Given the description of an element on the screen output the (x, y) to click on. 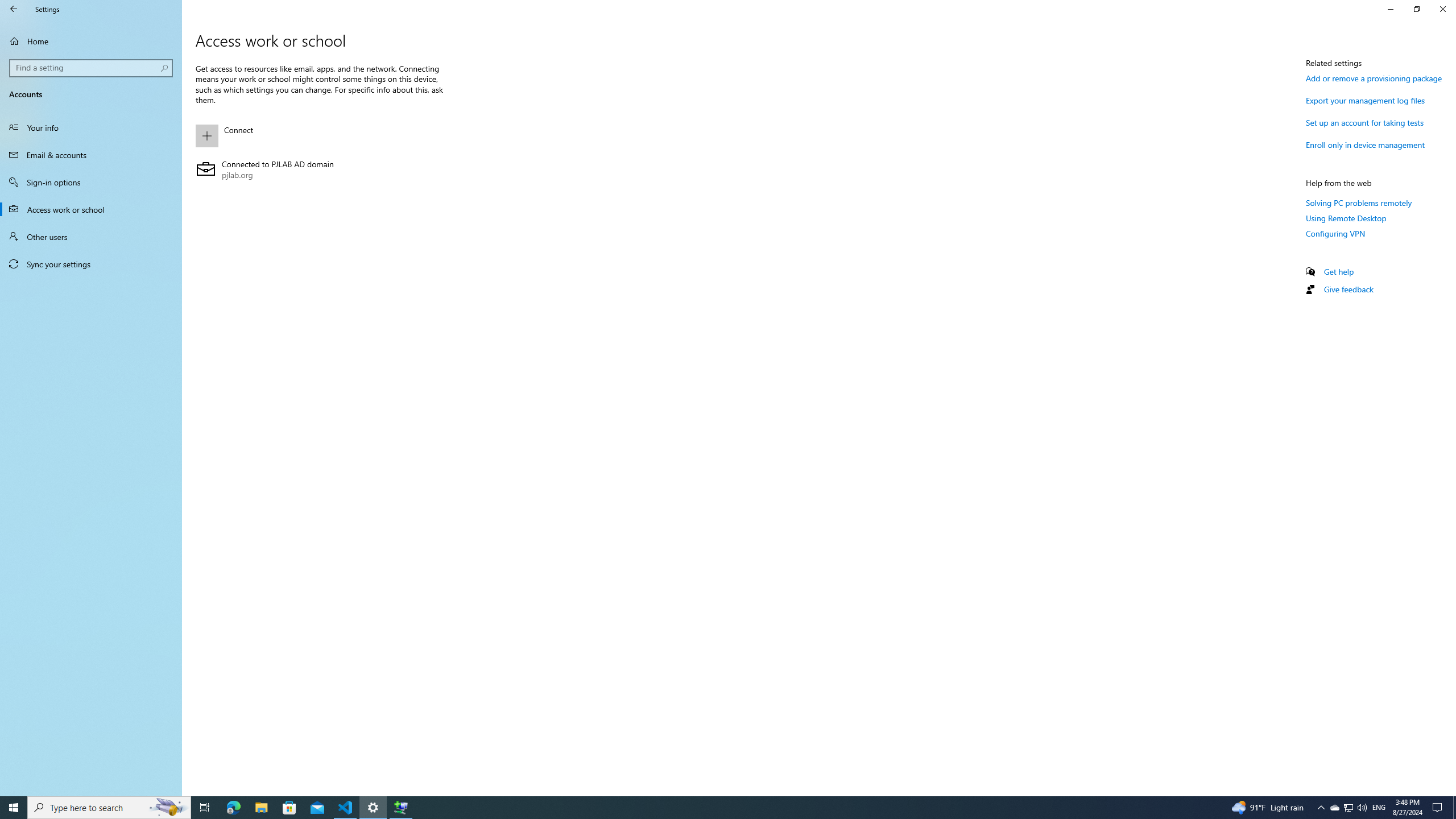
Running applications (706, 807)
Access work or school (91, 208)
Get help (1338, 271)
Sync your settings (91, 263)
Add or remove a provisioning package (1374, 77)
Search box, Find a setting (91, 67)
Using Remote Desktop (1346, 217)
Restore Settings (1416, 9)
